Given the description of an element on the screen output the (x, y) to click on. 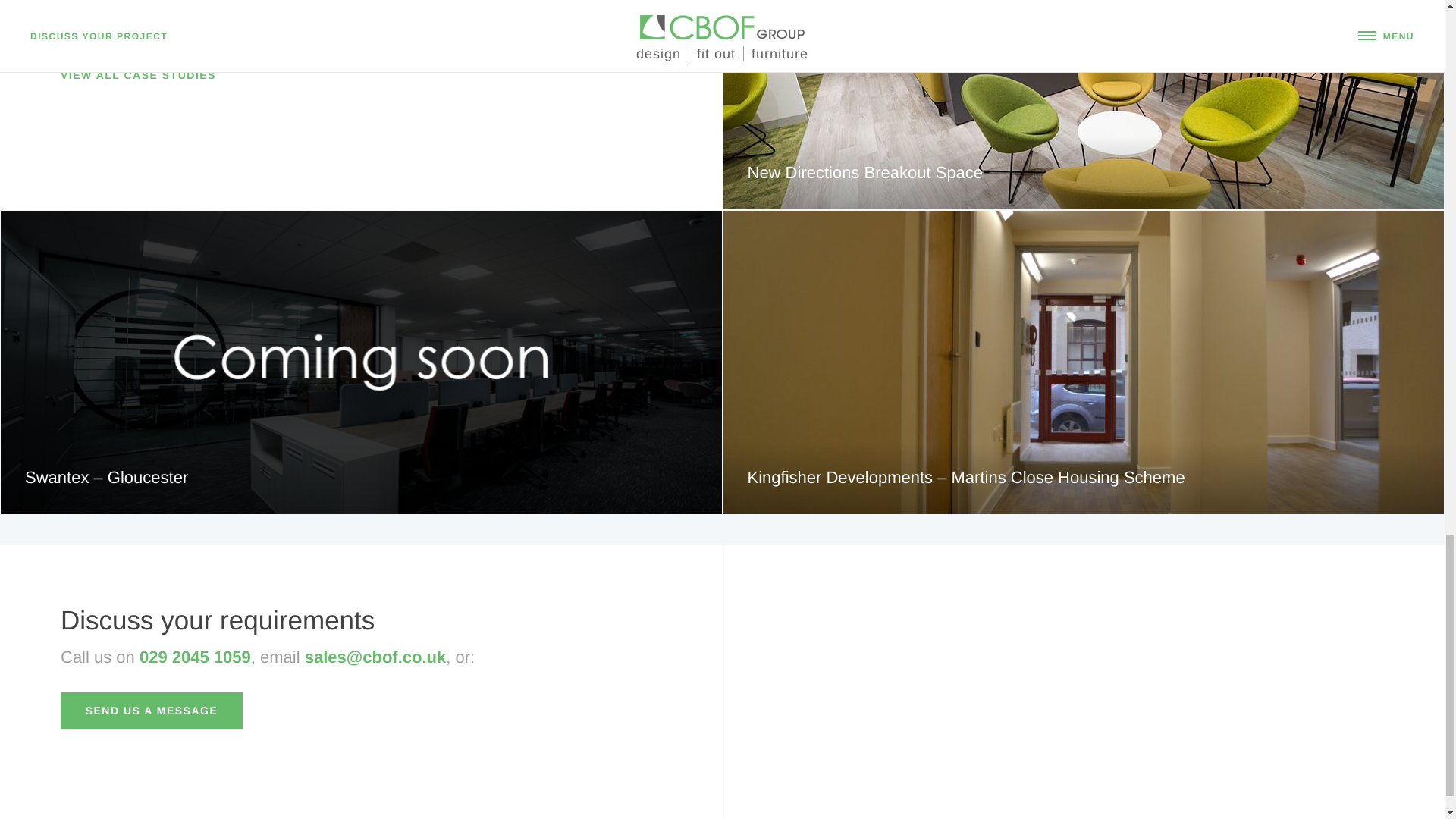
VIEW ALL CASE STUDIES (138, 74)
SEND US A MESSAGE (152, 710)
029 2045 1059 (194, 656)
